Given the description of an element on the screen output the (x, y) to click on. 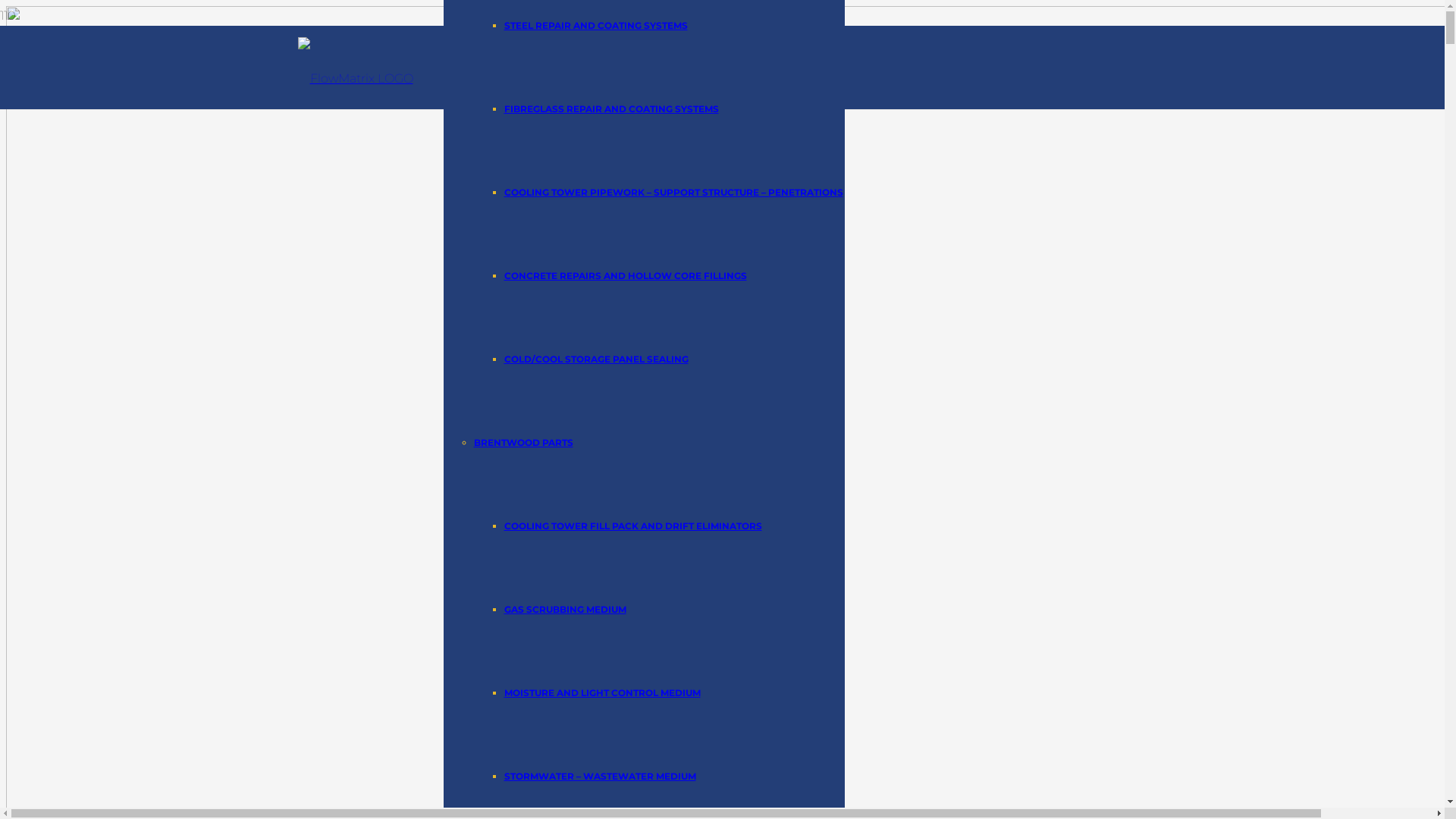
COLD/COOL STORAGE PANEL SEALING Element type: text (595, 358)
COOLING TOWER FILL PACK AND DRIFT ELIMINATORS Element type: text (632, 525)
MOISTURE AND LIGHT CONTROL MEDIUM Element type: text (601, 692)
FIBREGLASS REPAIR AND COATING SYSTEMS Element type: text (610, 108)
GAS SCRUBBING MEDIUM Element type: text (564, 609)
BRENTWOOD PARTS Element type: text (522, 442)
CONCRETE REPAIRS AND HOLLOW CORE FILLINGS Element type: text (624, 275)
STEEL REPAIR AND COATING SYSTEMS Element type: text (595, 25)
